Given the description of an element on the screen output the (x, y) to click on. 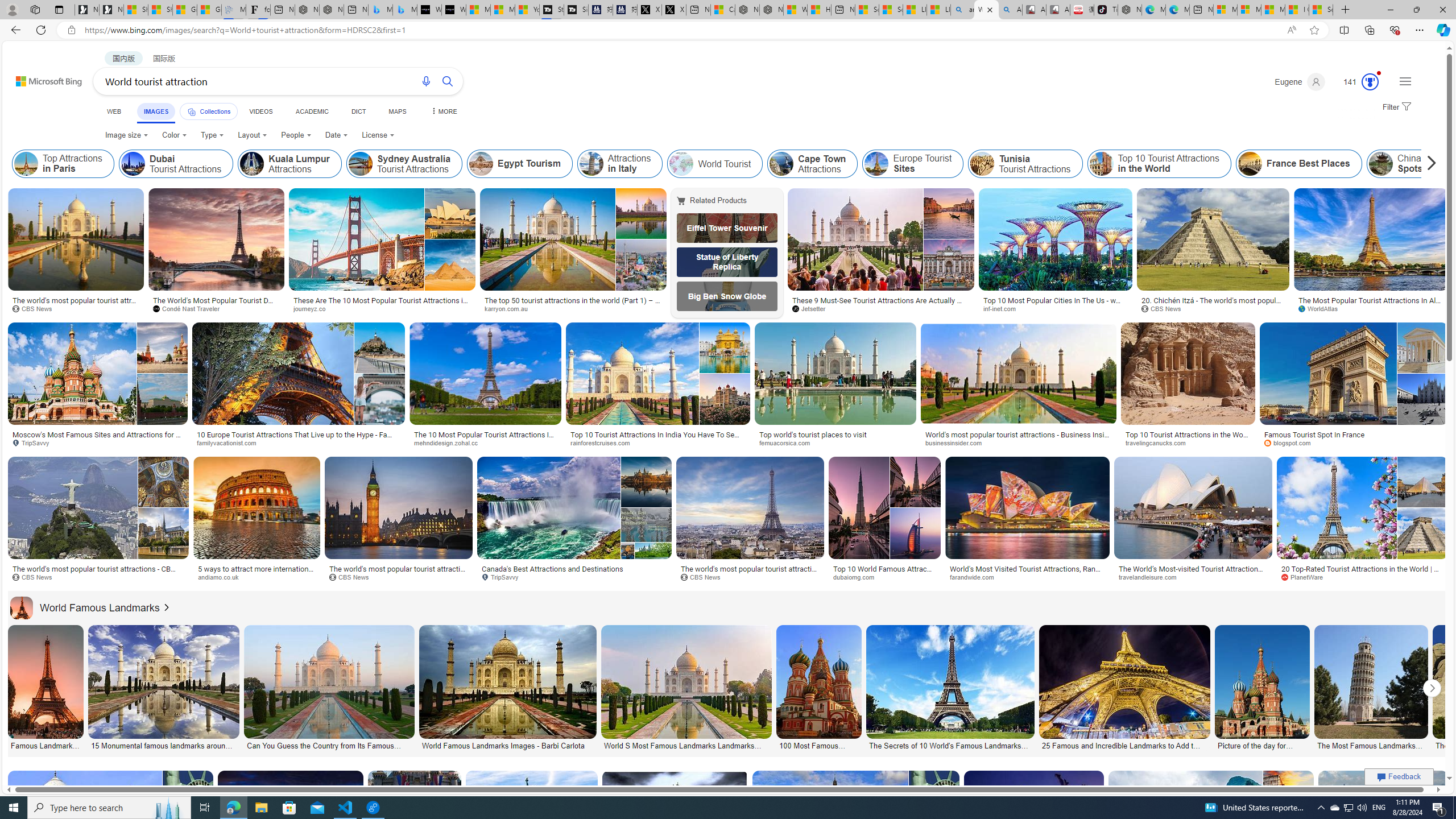
travelingcanucks.com (1187, 442)
travelandleisure.com (1151, 576)
Canada's Best Attractions and Destinations (573, 568)
PlanetWare (1361, 576)
inf-inet.com (1002, 308)
farandwide.com (1027, 576)
World Famous Landmarks (85, 607)
